Given the description of an element on the screen output the (x, y) to click on. 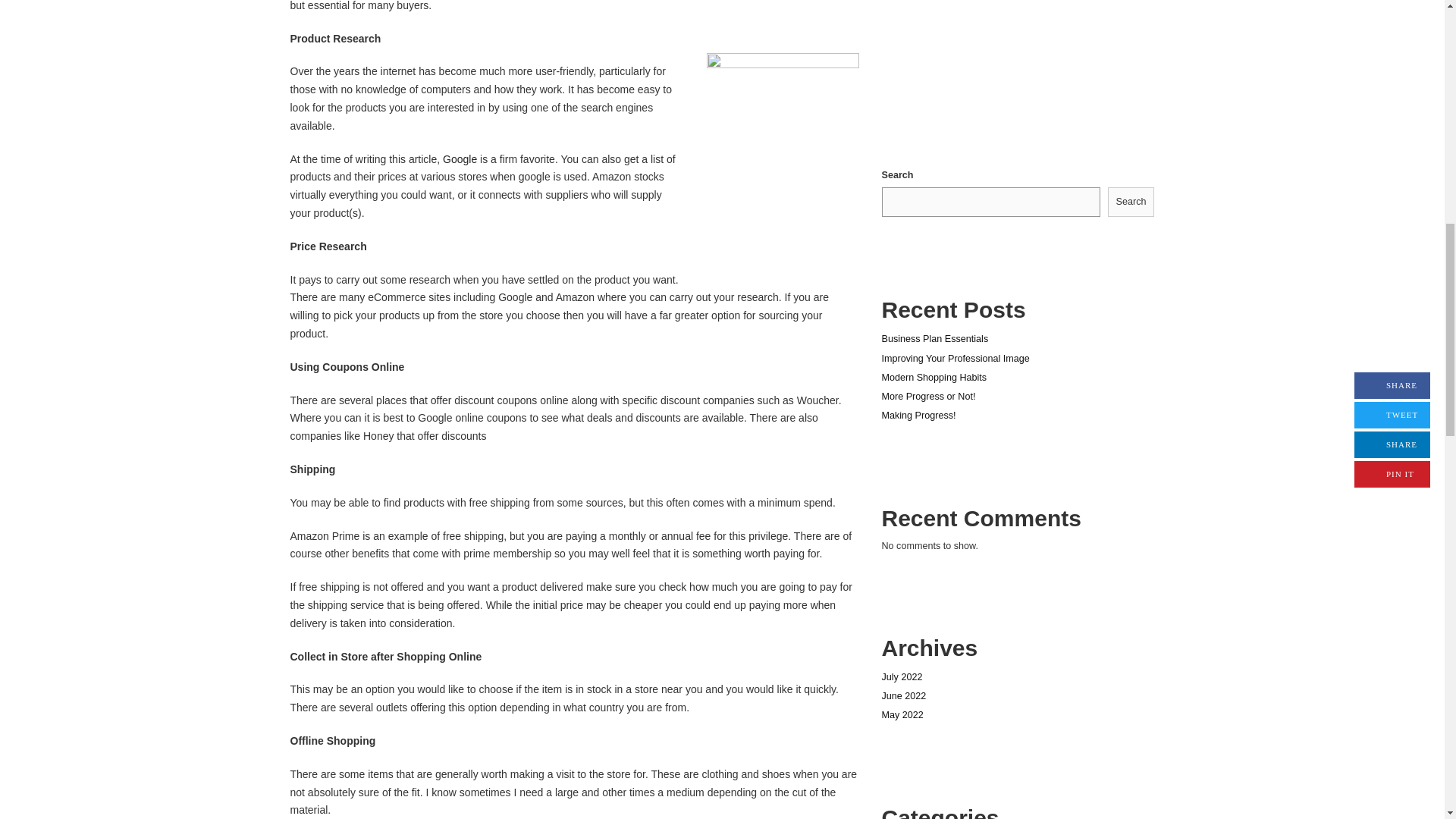
July 2022 (900, 676)
Search (1131, 202)
May 2022 (901, 715)
Modern Shopping Habits (933, 377)
Making Progress! (917, 415)
Google (459, 159)
Improving Your Professional Image (954, 357)
More Progress or Not! (927, 396)
Business Plan Essentials (934, 338)
June 2022 (903, 696)
